Given the description of an element on the screen output the (x, y) to click on. 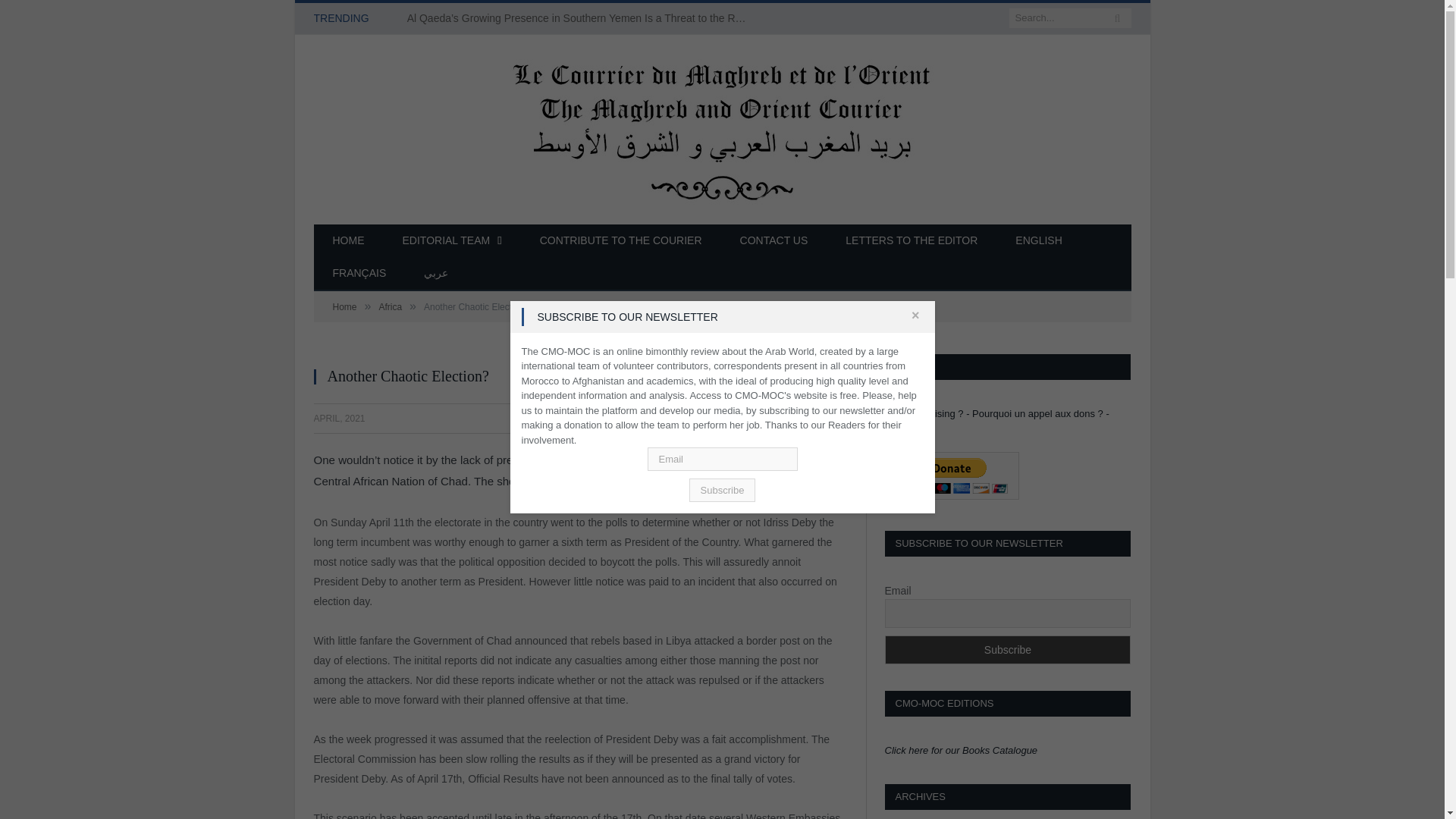
Subscribe (721, 490)
Subscribe (1007, 649)
EDITORIAL TEAM (452, 241)
HOME (349, 241)
